Given the description of an element on the screen output the (x, y) to click on. 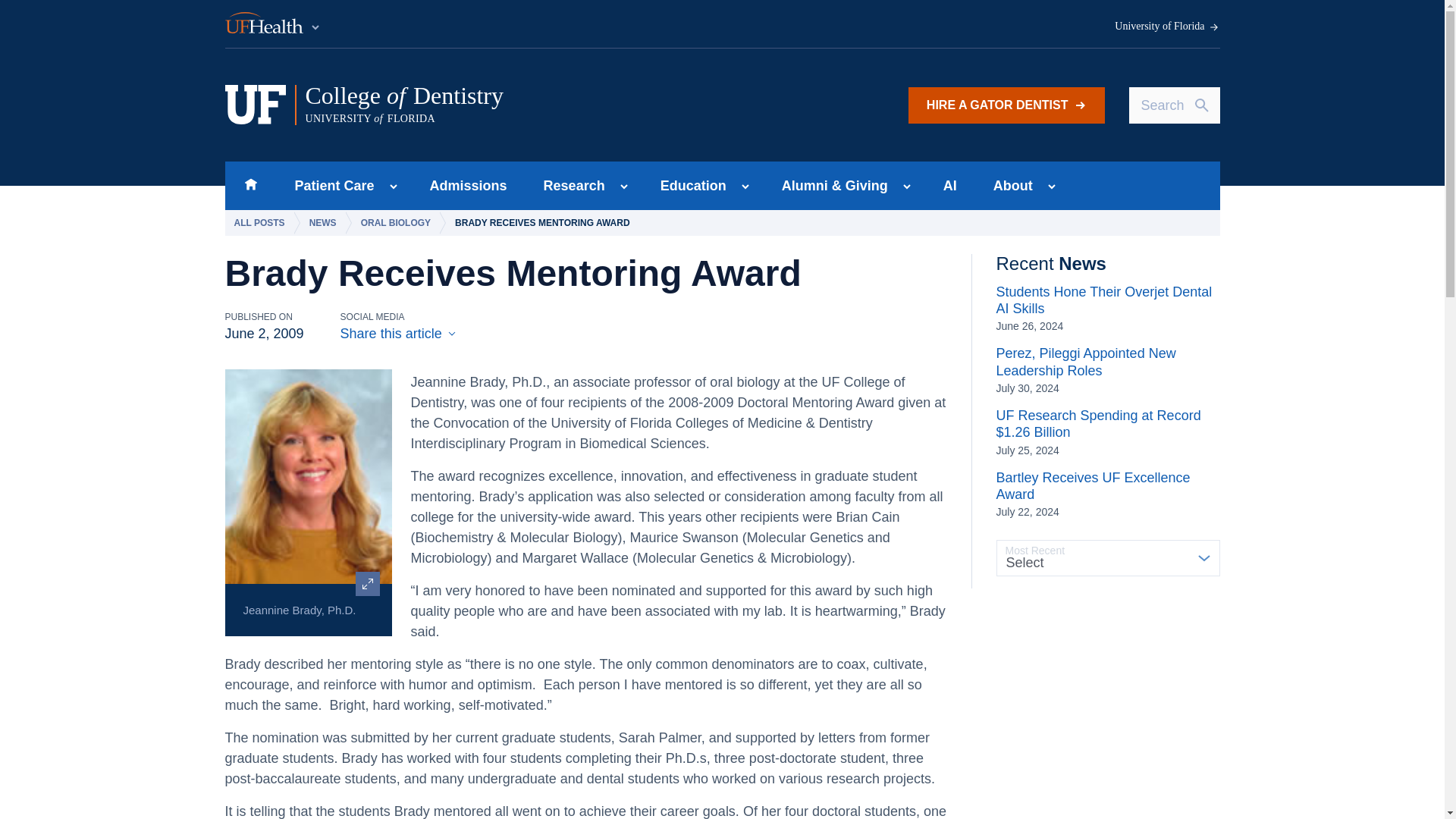
HIRE A GATOR DENTIST (1006, 104)
UF Health (515, 105)
Admissions (272, 24)
University of Florida (468, 185)
Home (1167, 26)
Patient Care (250, 185)
Research (329, 185)
Skip to main content (569, 185)
